Given the description of an element on the screen output the (x, y) to click on. 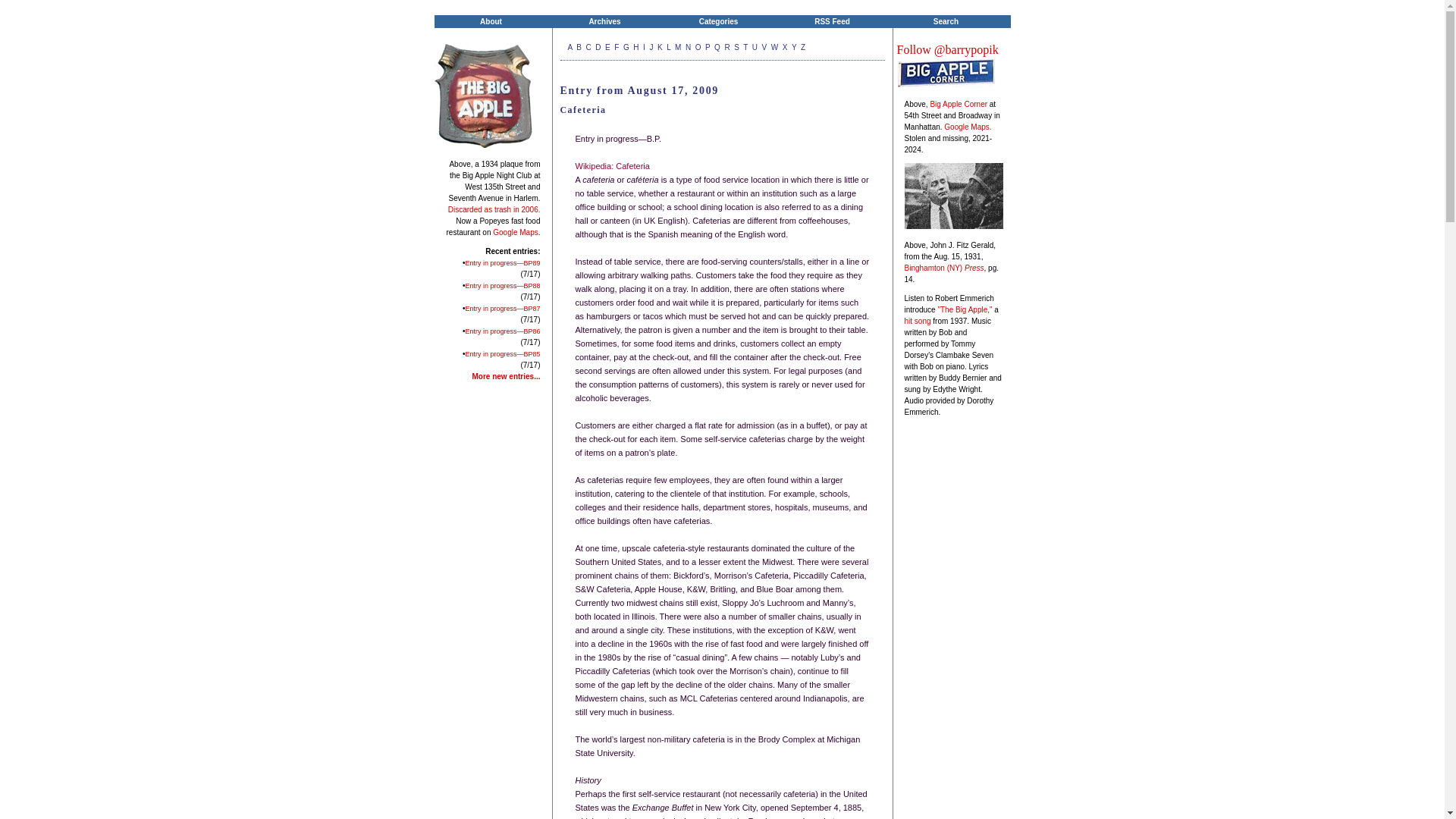
More new entries... (505, 376)
hit song (917, 320)
Discarded as trash in 2006. (494, 209)
About (490, 21)
RSS Feed (831, 21)
Archives (604, 21)
Contact, history, user guide, and editor info. (490, 21)
Google Maps. (967, 126)
Search the full text of all of citations and entries. (945, 21)
Google Maps (515, 232)
Search (945, 21)
Categories (717, 21)
Big Apple Corner (958, 103)
